Given the description of an element on the screen output the (x, y) to click on. 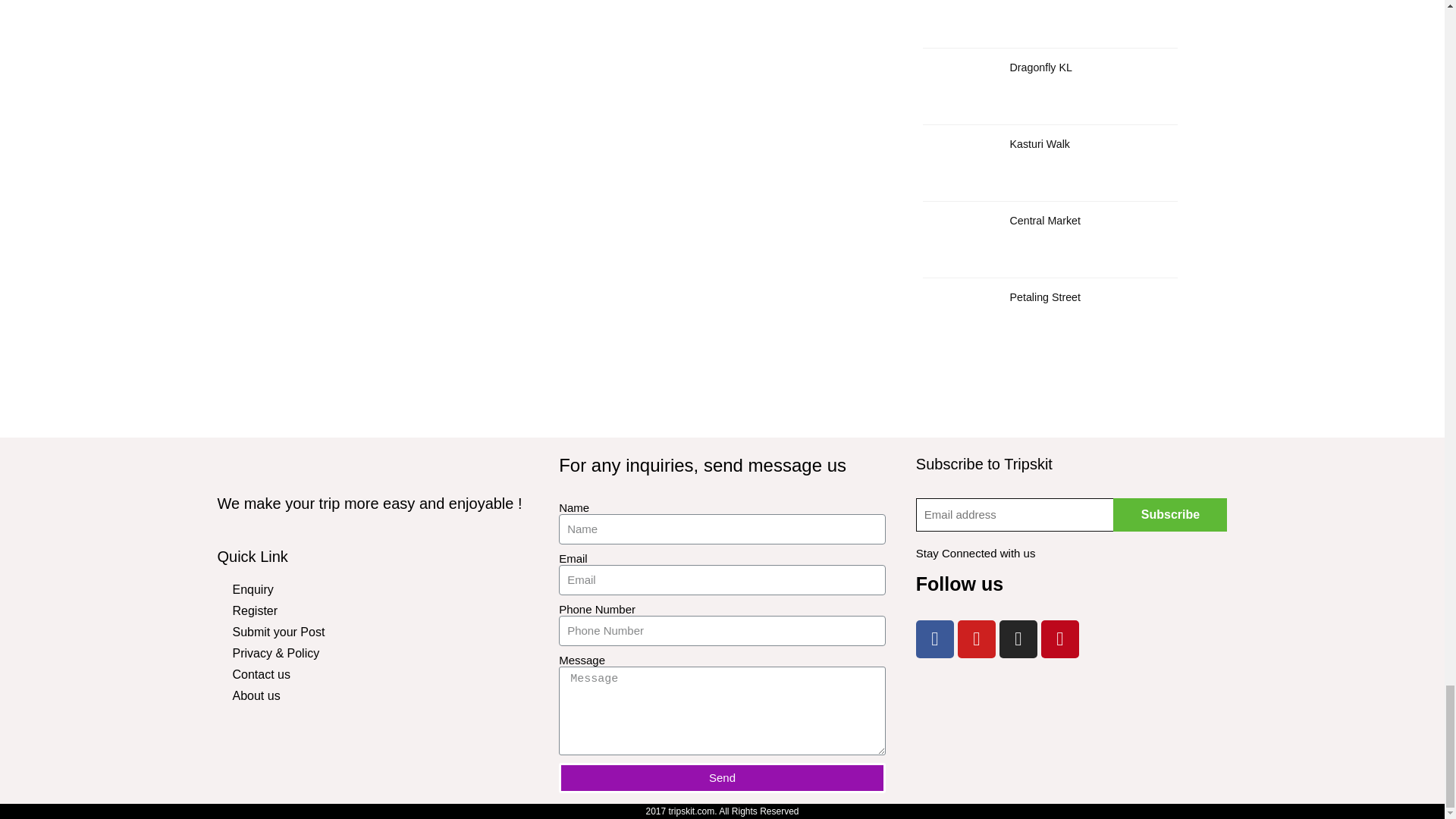
Malaysia (1064, 734)
Subscribe (1170, 514)
